Given the description of an element on the screen output the (x, y) to click on. 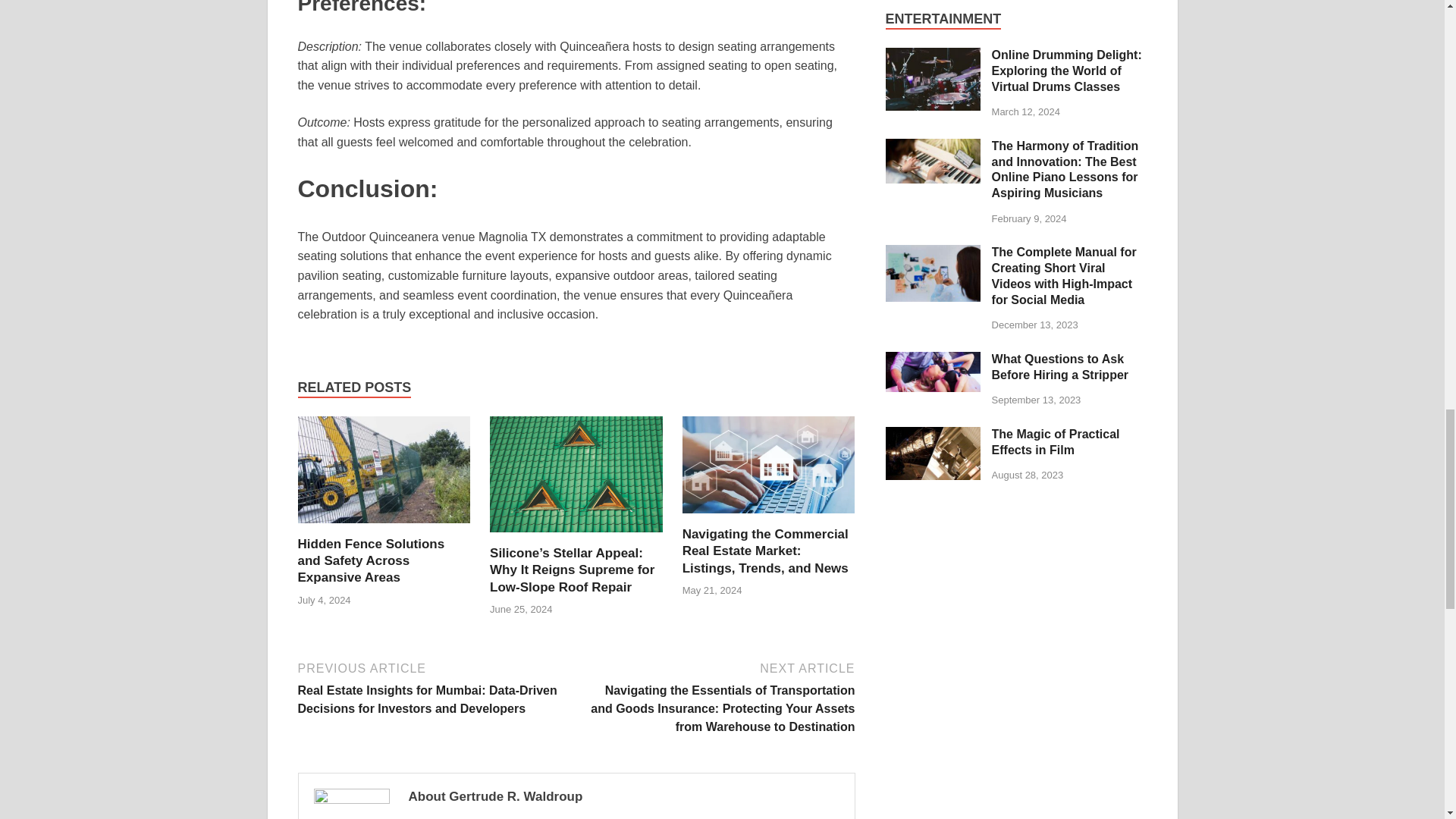
Hidden Fence Solutions and Safety Across Expansive Areas (370, 560)
Hidden Fence Solutions and Safety Across Expansive Areas (370, 560)
Hidden Fence Solutions and Safety Across Expansive Areas (383, 474)
